Given the description of an element on the screen output the (x, y) to click on. 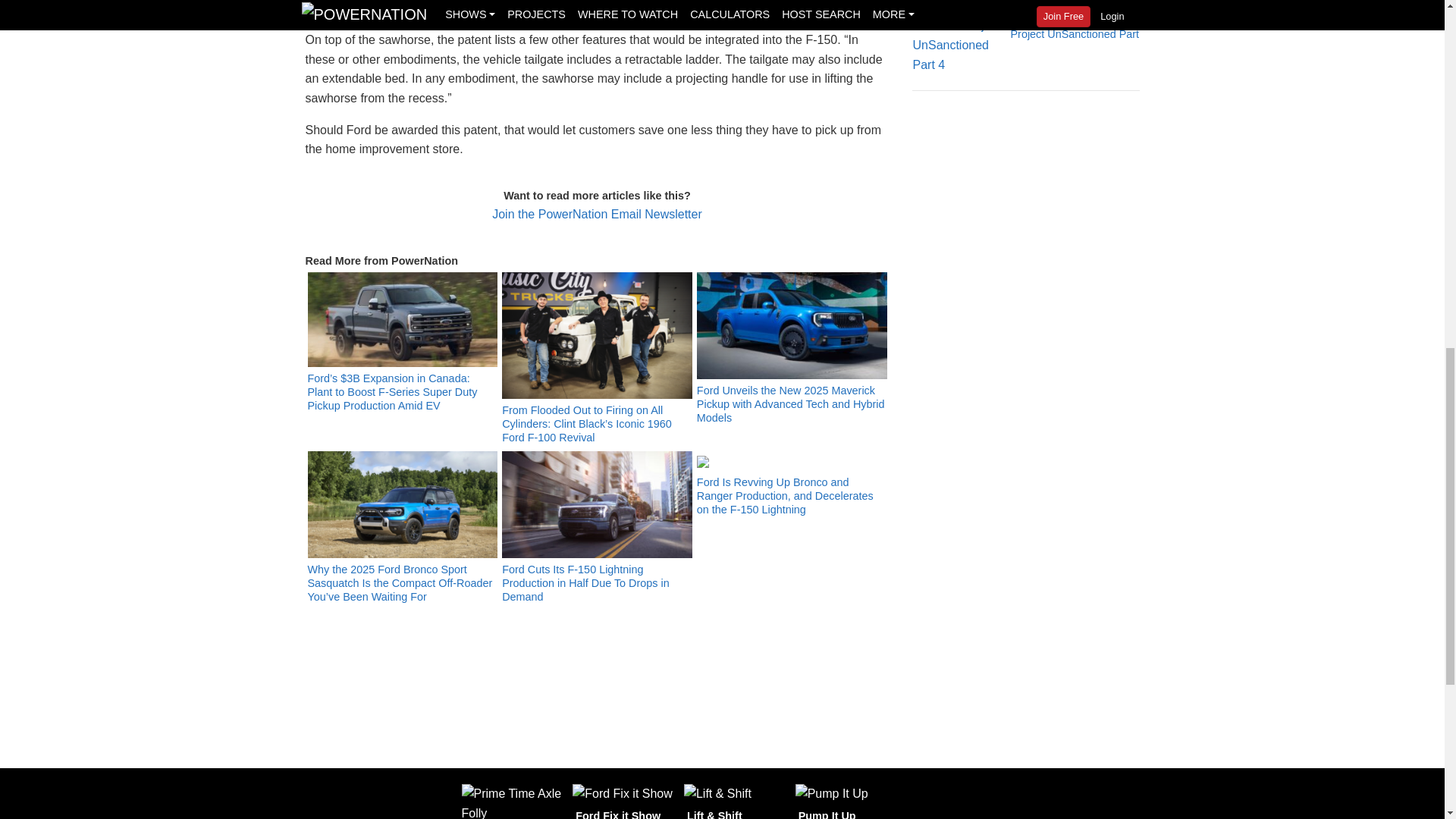
Join the PowerNation Email Newsletter (596, 214)
